Given the description of an element on the screen output the (x, y) to click on. 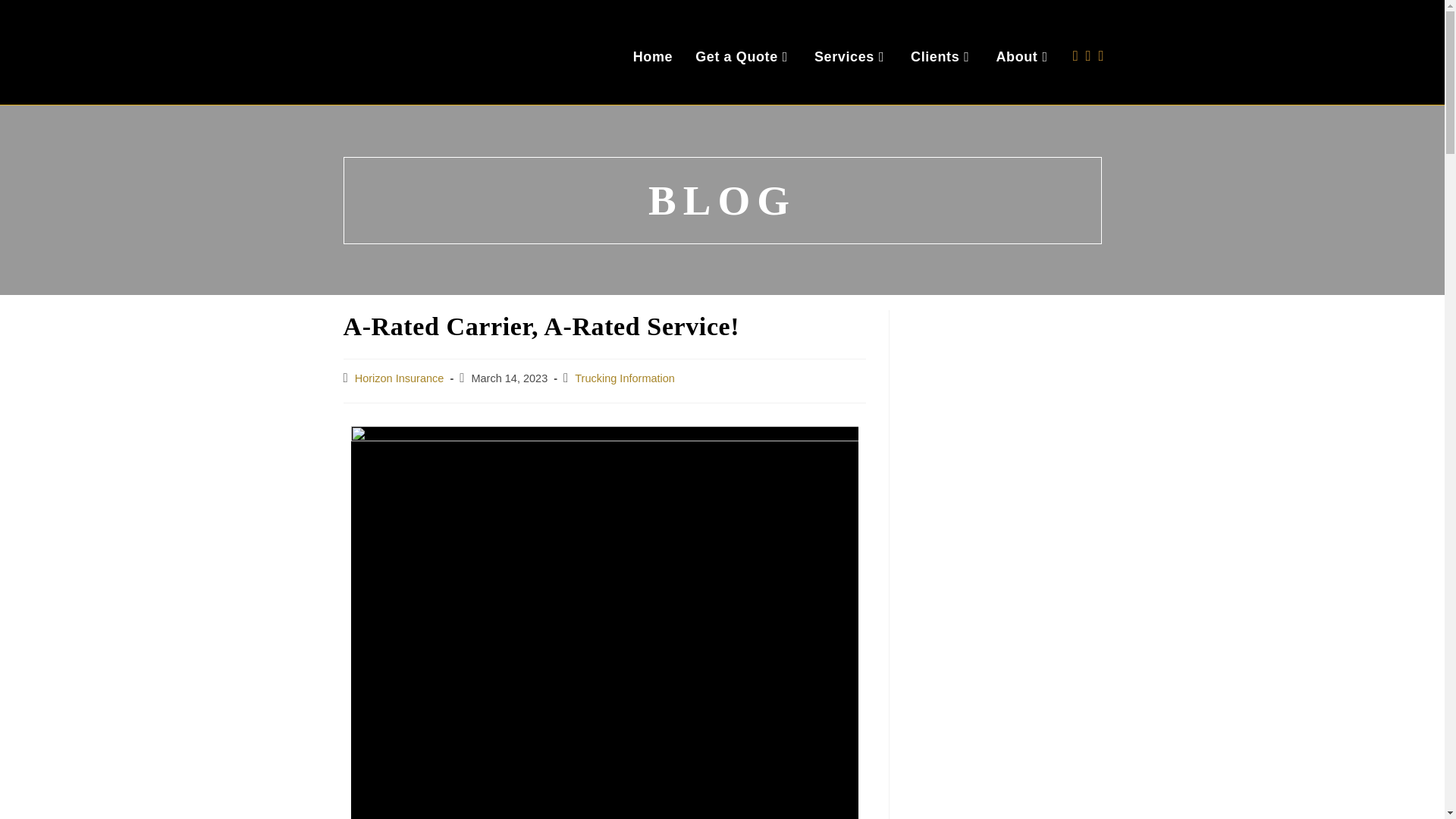
Clients (941, 56)
Home (652, 56)
About (1023, 56)
Services (851, 56)
Posts by Horizon Insurance (399, 378)
Get a Quote (743, 56)
Trucking Information (625, 378)
Horizon Insurance (399, 378)
